Given the description of an element on the screen output the (x, y) to click on. 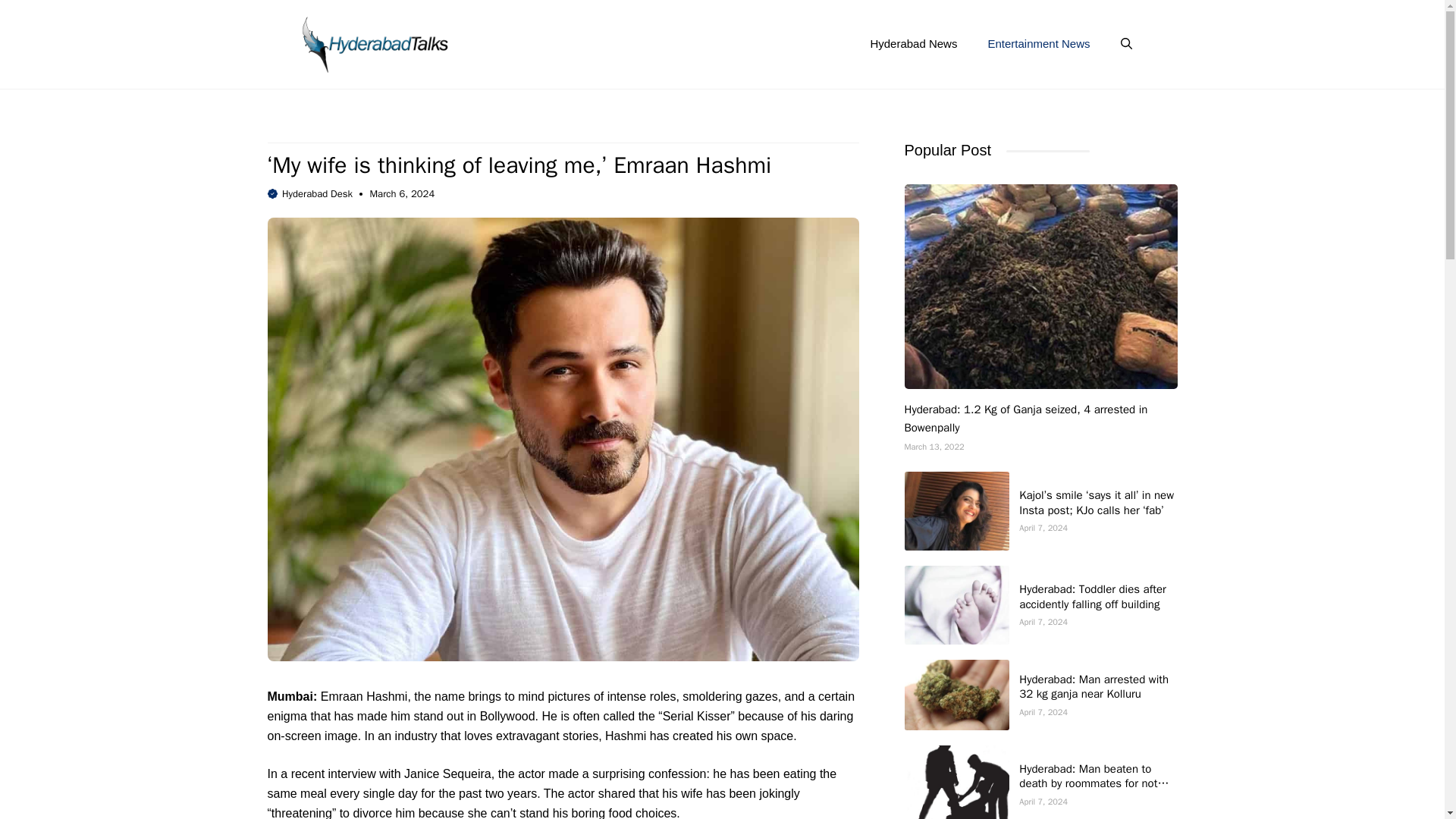
Hyderabad News (913, 43)
Hyderabad Desk (317, 193)
Entertainment News (1038, 43)
Hyderabad: Man arrested with 32 kg ganja near Kolluru (1094, 686)
Hyderabad: 1.2 Kg of Ganja seized, 4 arrested in Bowenpally (1025, 418)
